Given the description of an element on the screen output the (x, y) to click on. 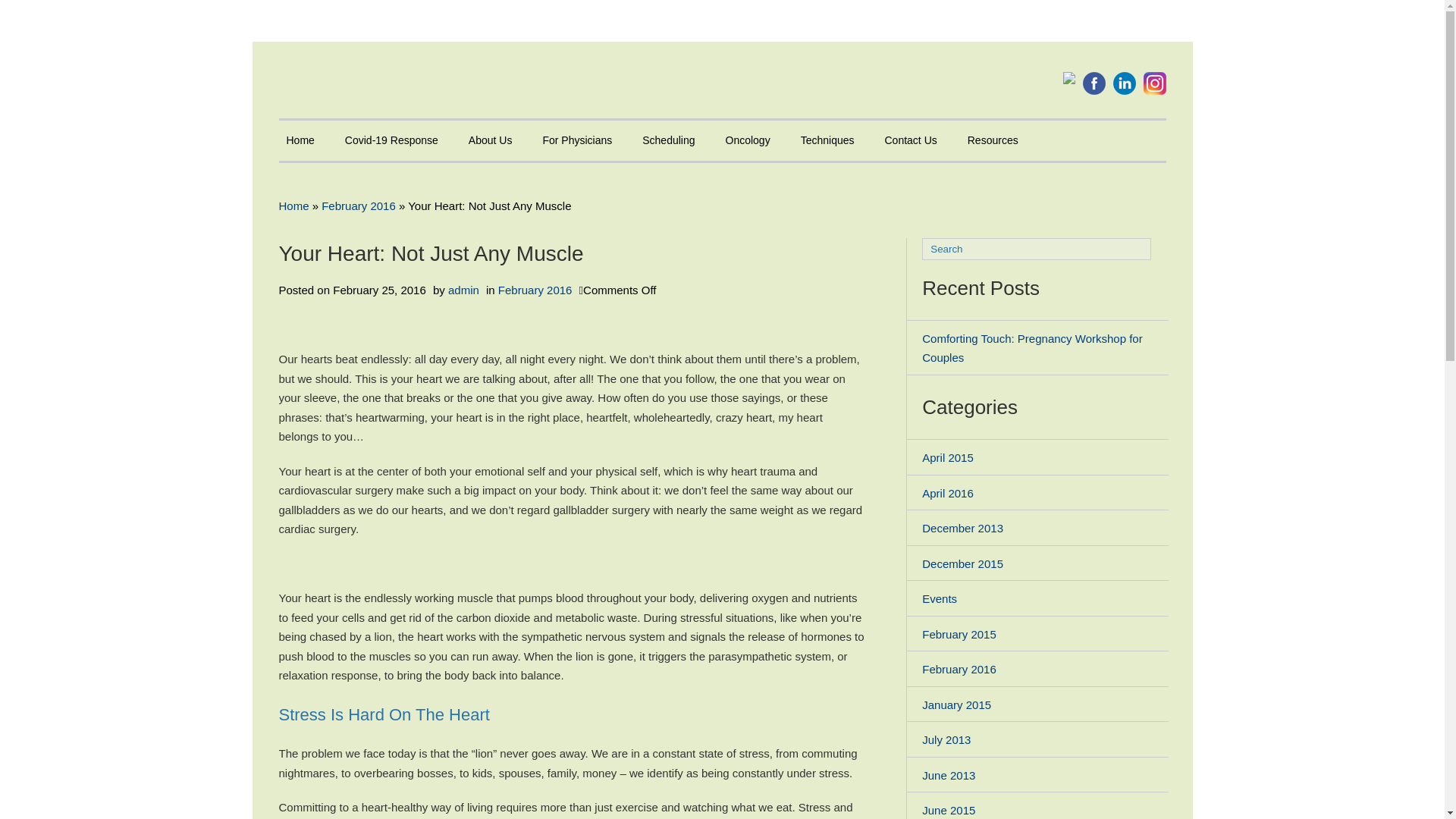
About Us (490, 140)
Scheduling (667, 140)
Techniques (827, 140)
Search (1161, 249)
Posts by admin (463, 289)
Covid-19 Response (391, 140)
Search (1036, 249)
Home (300, 140)
For Physicians (577, 140)
Oncology (747, 140)
